Given the description of an element on the screen output the (x, y) to click on. 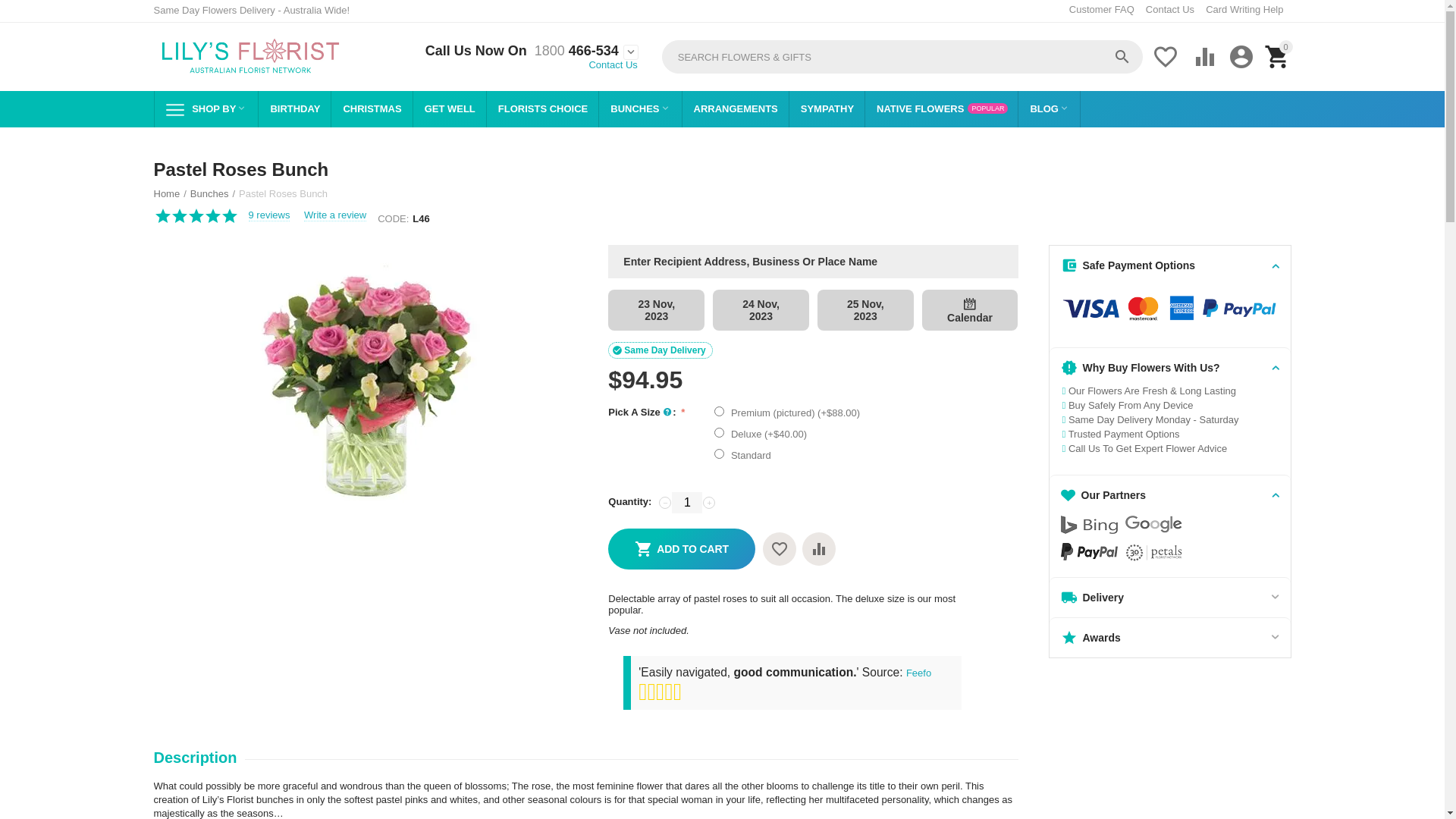
SYMPATHY Element type: text (826, 109)
516 Element type: text (719, 432)
CHRISTMAS Element type: text (371, 109)
Calendar Element type: hover (969, 303)
ADD TO CART Element type: text (681, 548)
517 Element type: text (719, 453)
Enter Recipient Address, Business Or Place Name Element type: hover (812, 261)
GET WELL Element type: text (449, 109)
Feefo Element type: text (918, 672)
Contact Us Element type: text (1169, 9)
ARRANGEMENTS Element type: text (735, 109)
Compare Flowers Element type: hover (818, 548)
Add to wish list Element type: hover (779, 548)
9 reviews Element type: text (269, 215)
Pastel Roses Bunch Element type: hover (365, 377)
Bunches Element type: text (209, 194)
Card Writing Help Element type: text (1244, 9)
+ Element type: text (708, 502)
Calendar Element type: text (970, 309)
515 Element type: text (719, 411)
Contact Us Element type: text (612, 64)
BIRTHDAY Element type: text (294, 109)
Pastel Roses Bunch Element type: hover (365, 377)
Customer FAQ Element type: text (1101, 9)
Home Element type: text (166, 194)
1800 466-534 Element type: text (572, 51)
Call Us Now On Element type: text (476, 51)
FLORISTS CHOICE Element type: text (542, 109)
NATIVE FLOWERS
POPULAR Element type: text (941, 109)
Search flowers & gifts Element type: hover (902, 56)
Write a review Element type: text (335, 215)
